Given the description of an element on the screen output the (x, y) to click on. 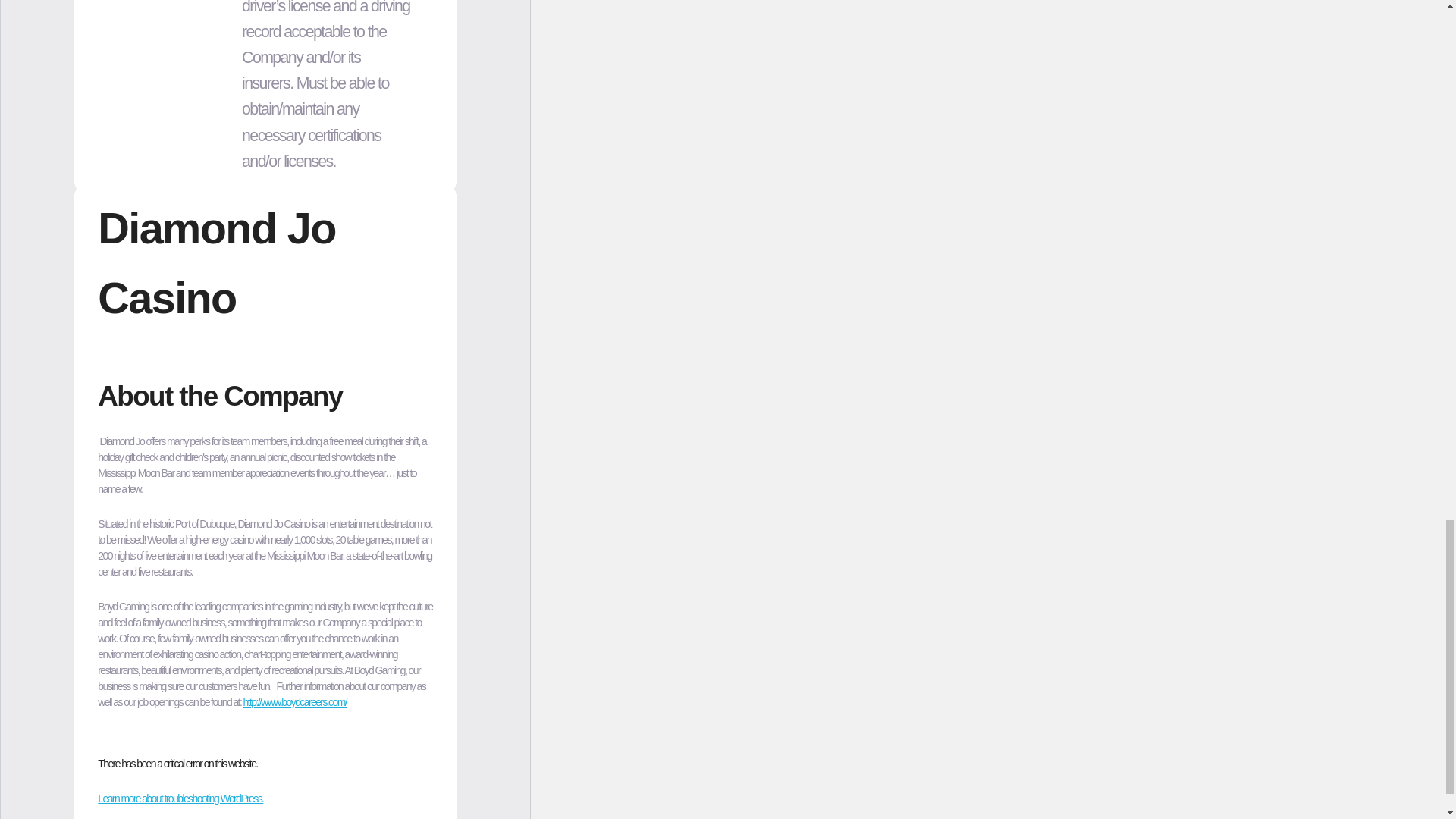
Learn more about troubleshooting WordPress. (180, 798)
